Given the description of an element on the screen output the (x, y) to click on. 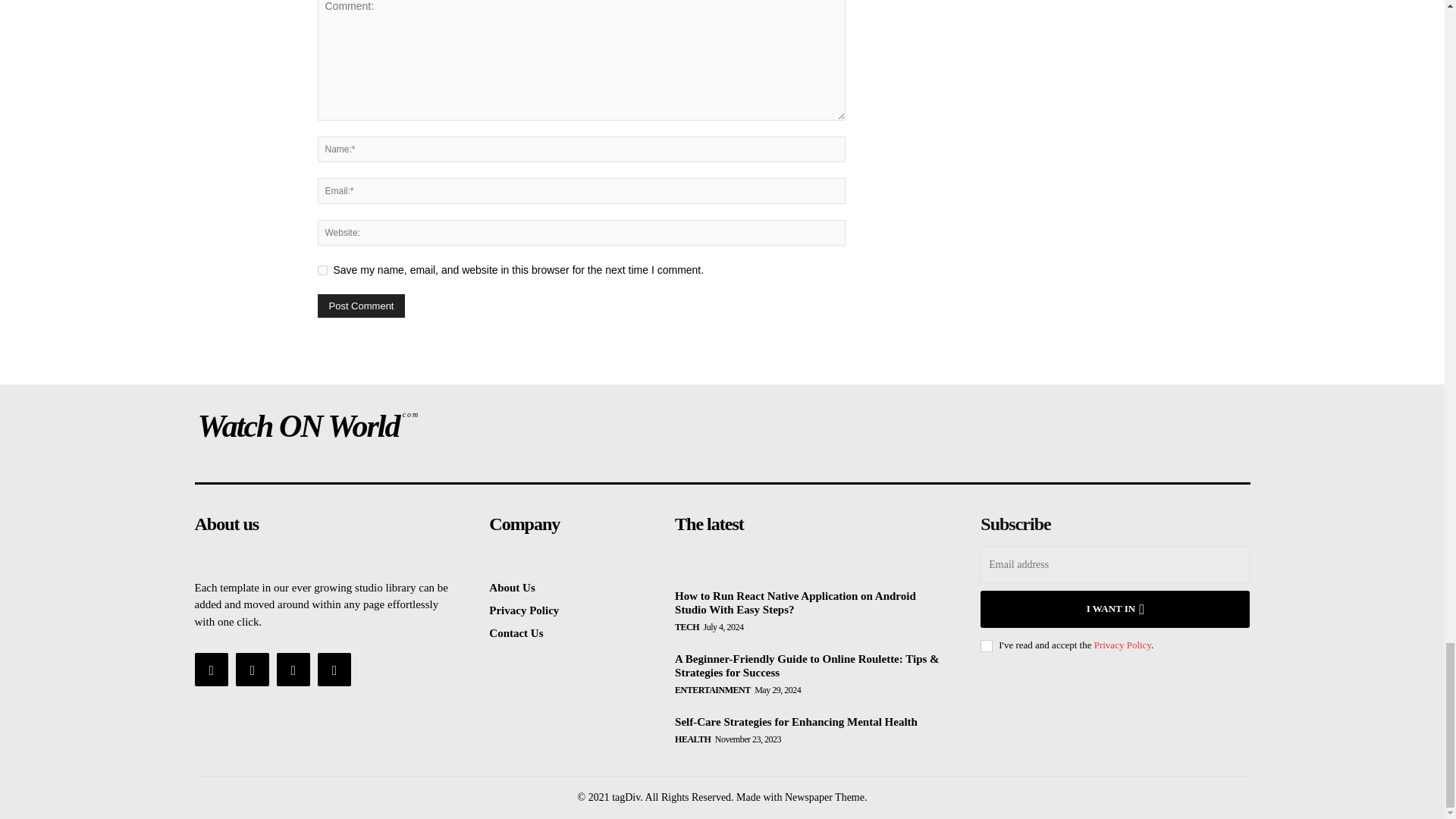
Post Comment (360, 305)
yes (321, 270)
